Given the description of an element on the screen output the (x, y) to click on. 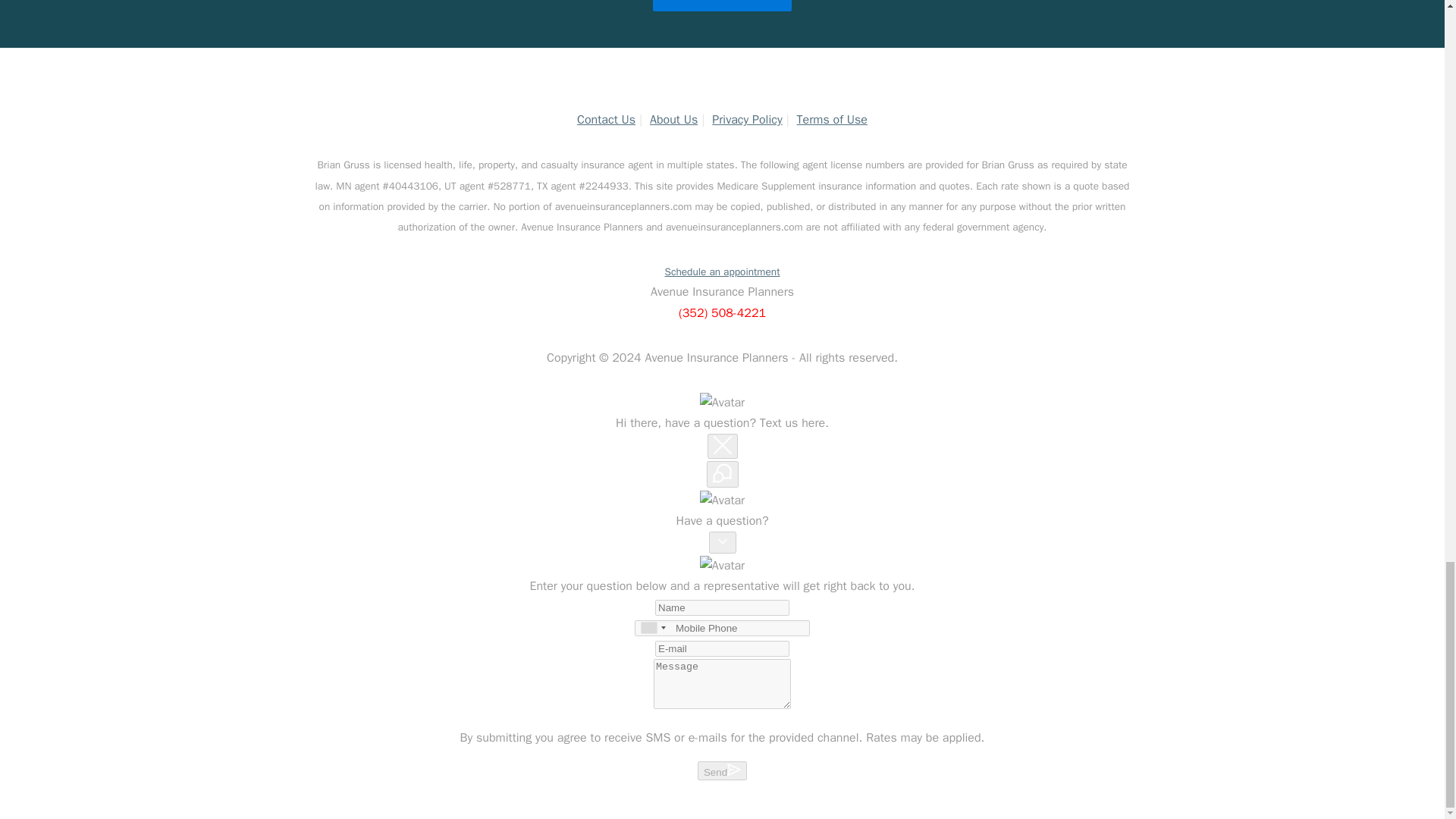
About Us (673, 119)
Schedule an appointment (720, 271)
Contact Us (605, 119)
Privacy Policy (746, 119)
Terms of Use (831, 119)
Request a Quote (722, 6)
